Given the description of an element on the screen output the (x, y) to click on. 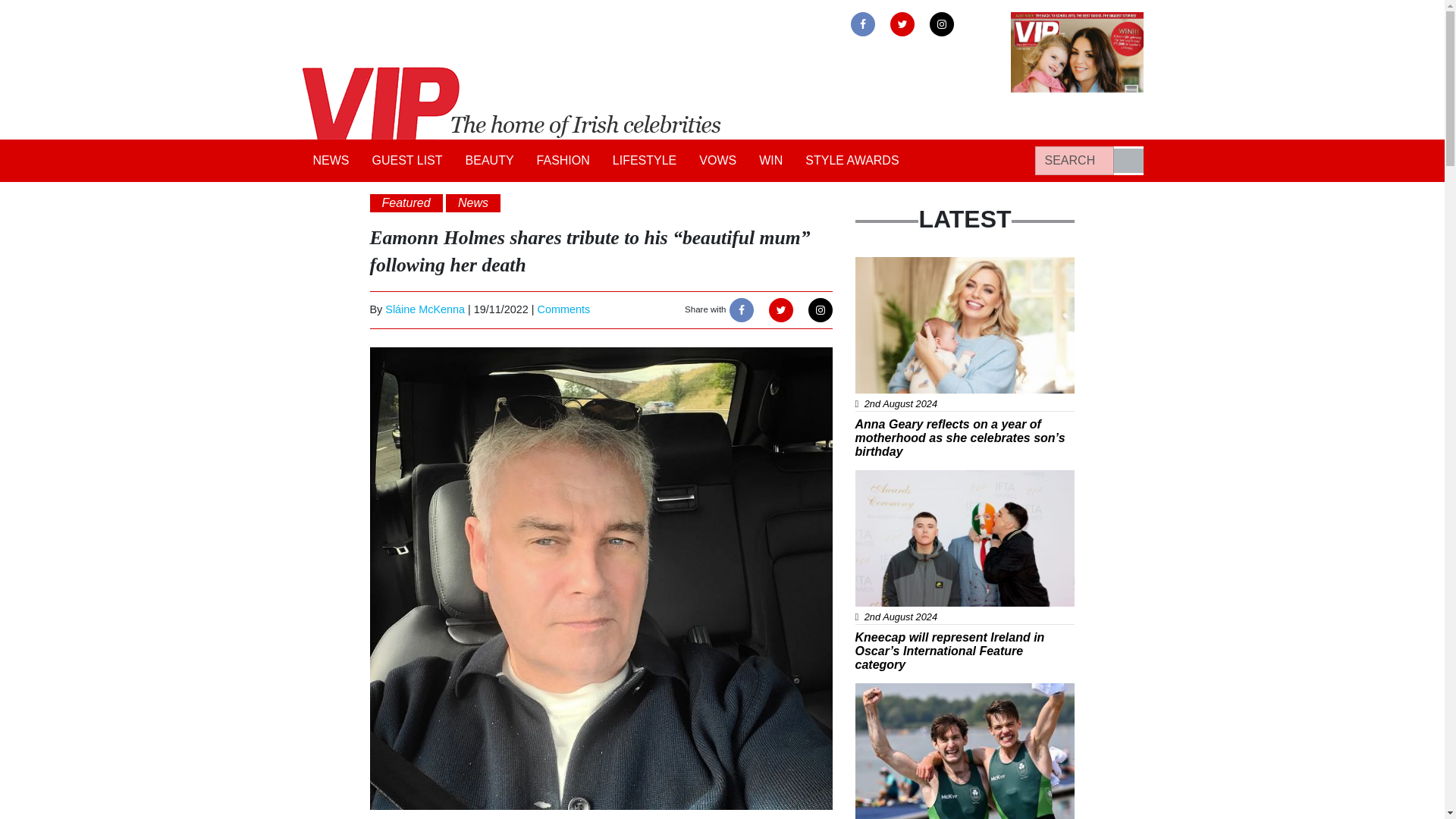
News (881, 478)
Featured (405, 203)
News (472, 203)
WIN (770, 160)
NEWS (331, 160)
News (881, 265)
BEAUTY (489, 160)
STYLE AWARDS (851, 160)
VOWS (717, 160)
FASHION (563, 160)
